Given the description of an element on the screen output the (x, y) to click on. 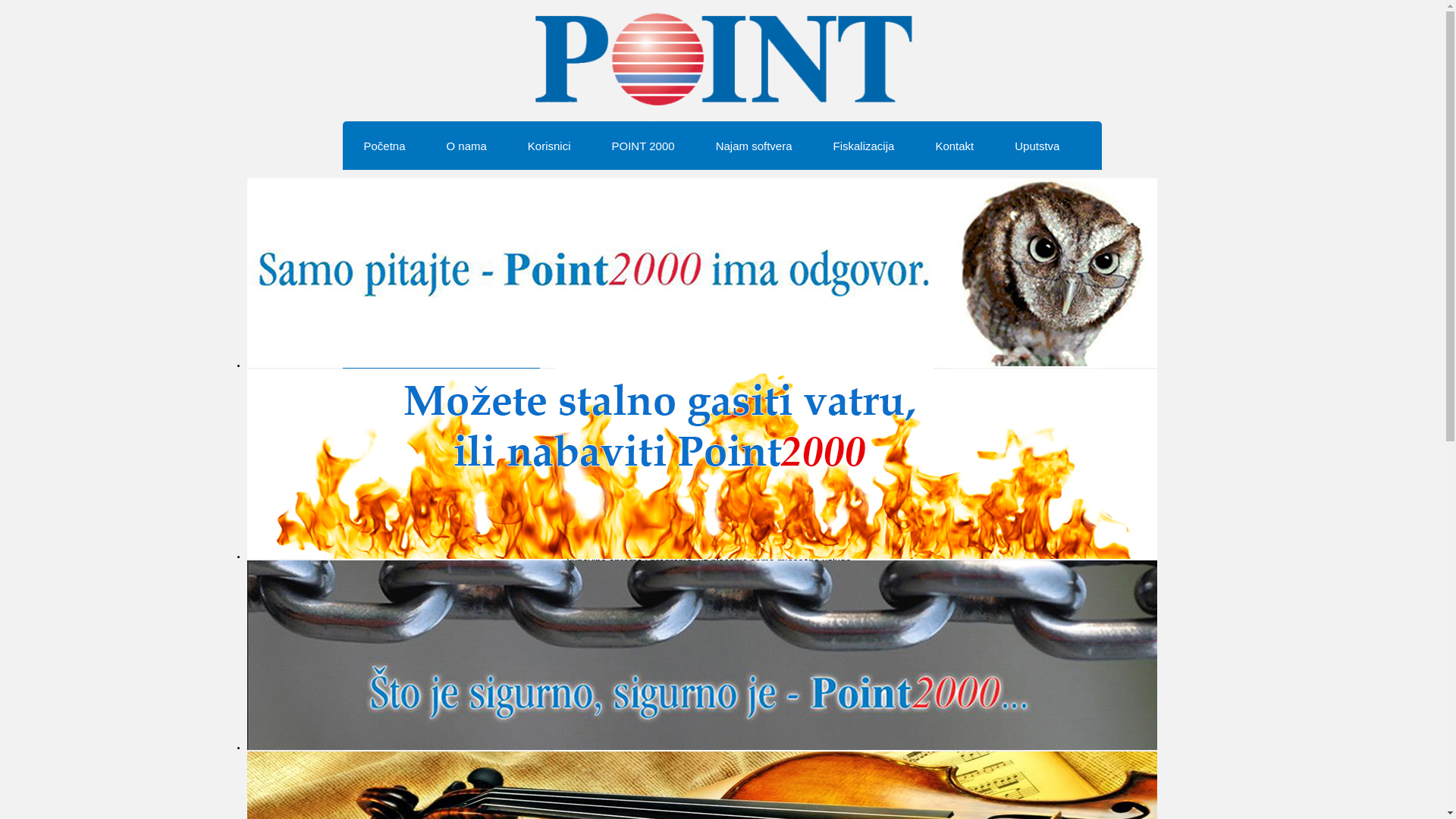
Mali korisnici Element type: text (626, 381)
Najam softvera Element type: text (753, 145)
POINT 2000 verzija 10.40 Element type: text (1008, 353)
O nama Element type: text (465, 145)
Uputstva Element type: text (1036, 145)
Korisnici Element type: text (549, 145)
POINT 2000 verzija 10.30 Element type: text (1008, 375)
Fiskalizacija Element type: text (863, 145)
Kontakt Element type: text (954, 145)
POINT 2000 Element type: text (643, 145)
